Given the description of an element on the screen output the (x, y) to click on. 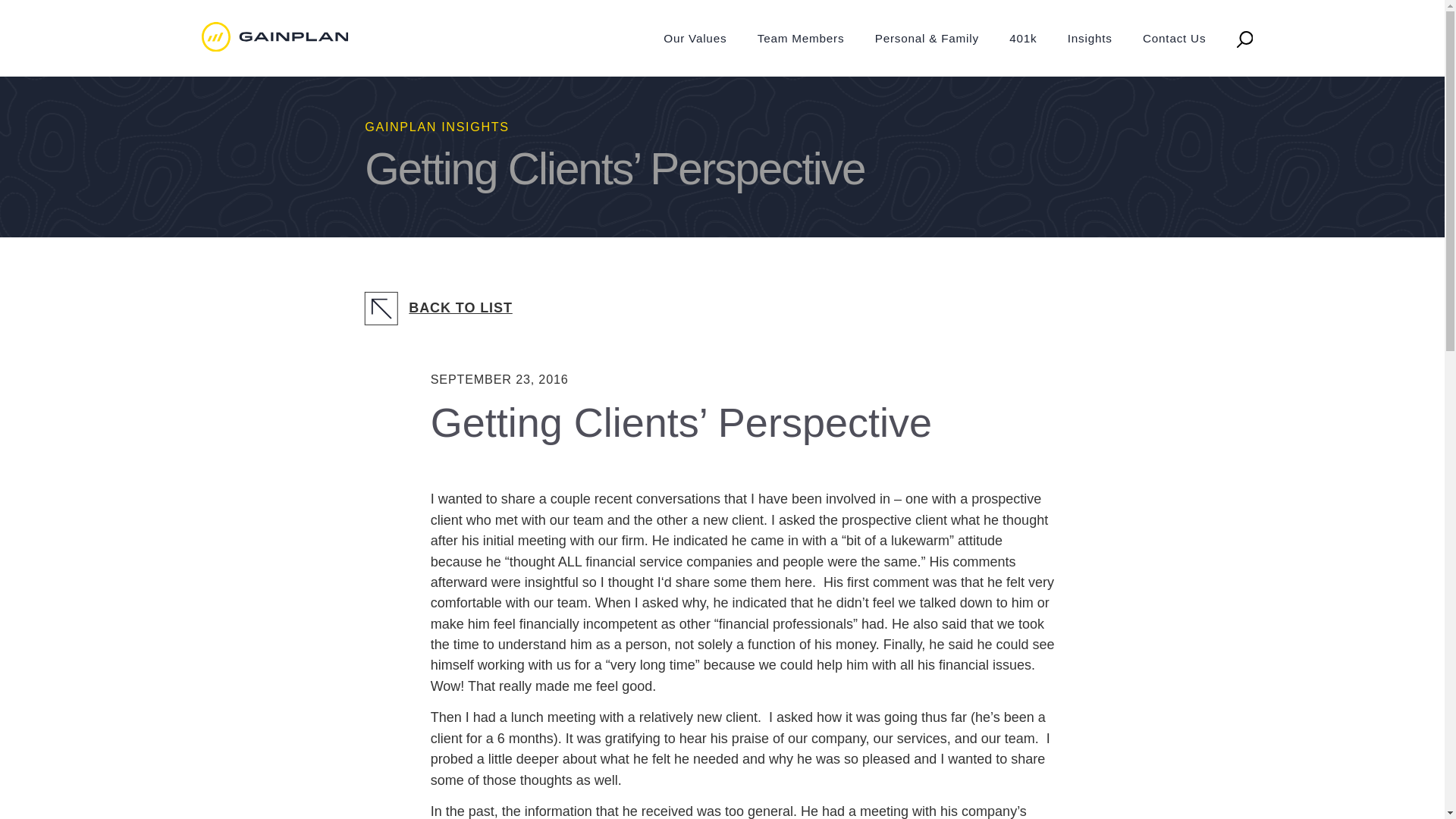
Contact Us (1173, 38)
Gainplan (274, 37)
Team Members (801, 38)
Our Values (694, 38)
401k (1023, 38)
Insights (1089, 38)
Search (1244, 38)
BACK TO LIST (721, 308)
